Given the description of an element on the screen output the (x, y) to click on. 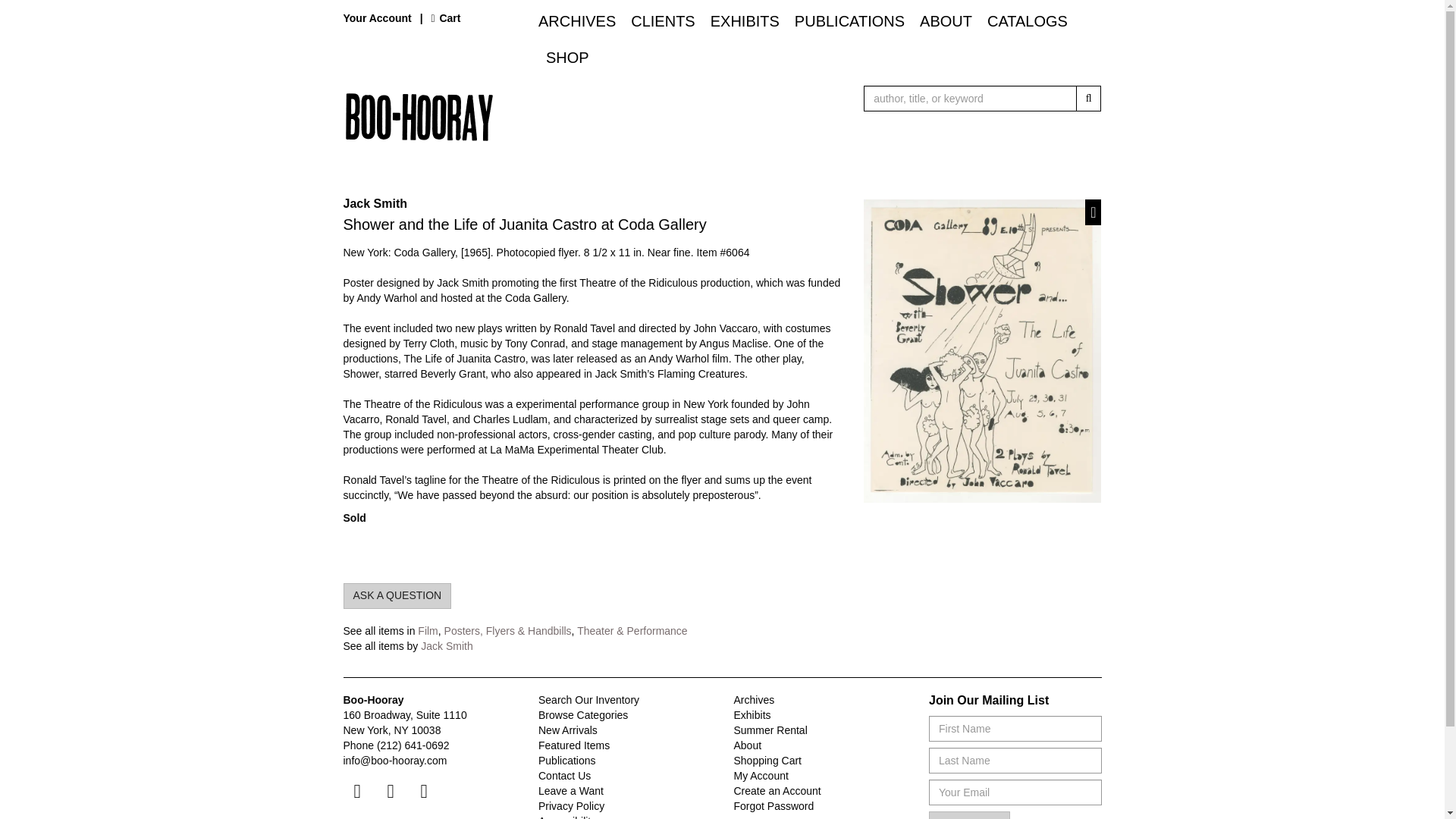
Contact Us (564, 775)
PUBLICATIONS (849, 20)
Jack Smith (445, 645)
New Arrivals (567, 729)
Subscribe (969, 815)
Boo-Hooray (526, 116)
Follow on Instagram (423, 790)
ASK A QUESTION (396, 596)
ARCHIVES (580, 20)
CATALOGS (1027, 20)
